Given the description of an element on the screen output the (x, y) to click on. 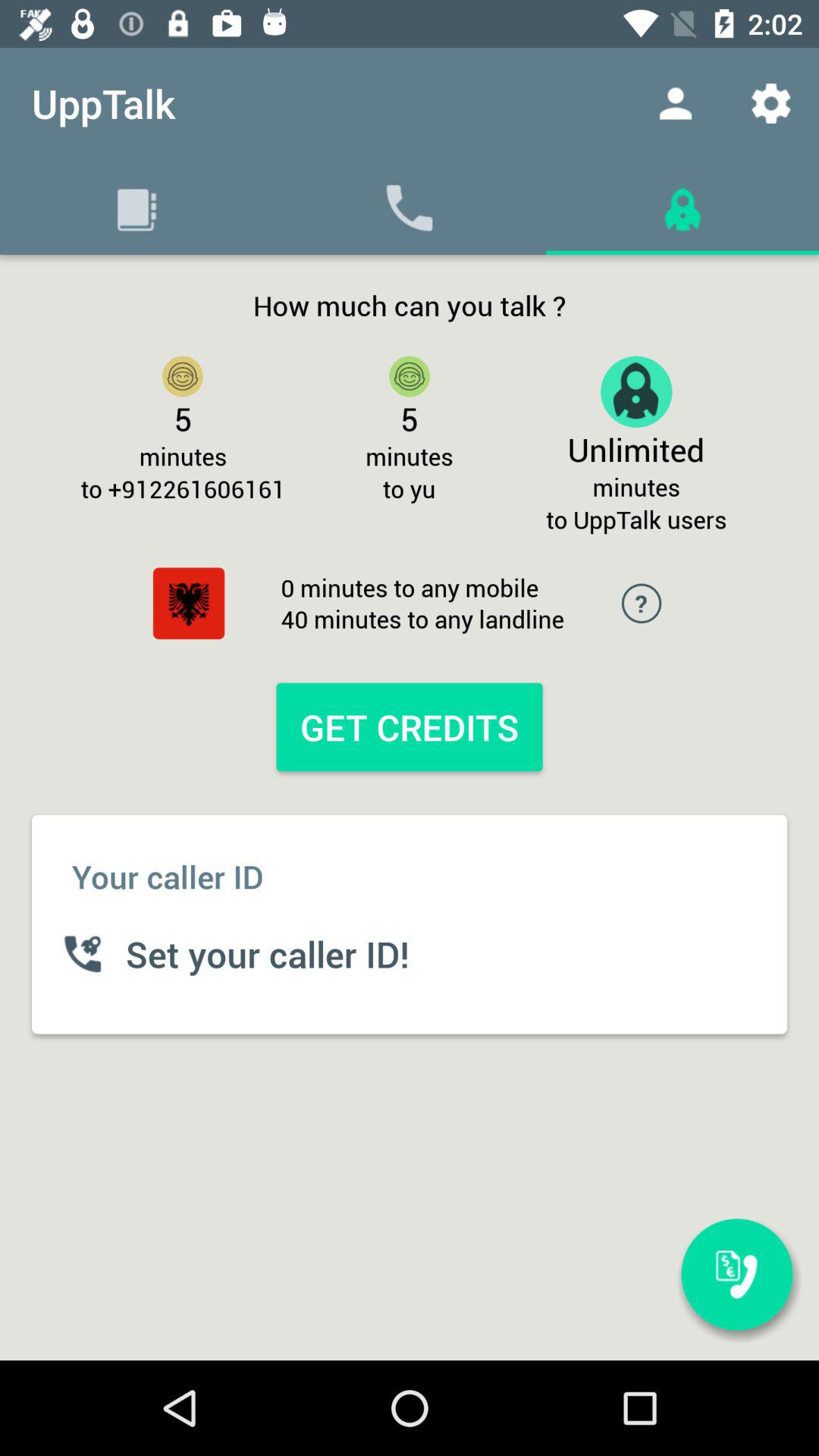
turn off icon below to +912261606161 icon (188, 603)
